Given the description of an element on the screen output the (x, y) to click on. 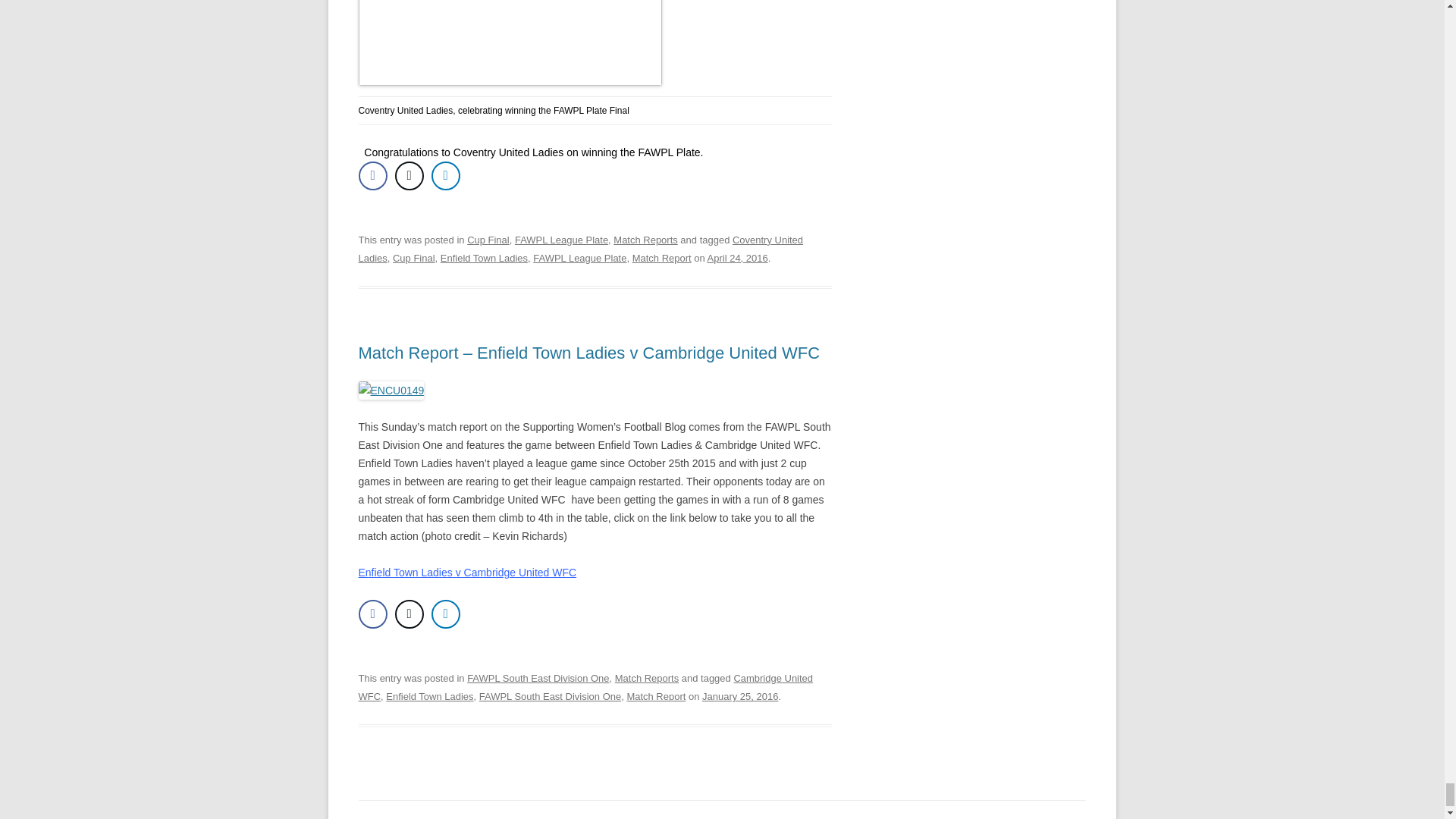
19:18 (739, 696)
23:23 (737, 257)
